Given the description of an element on the screen output the (x, y) to click on. 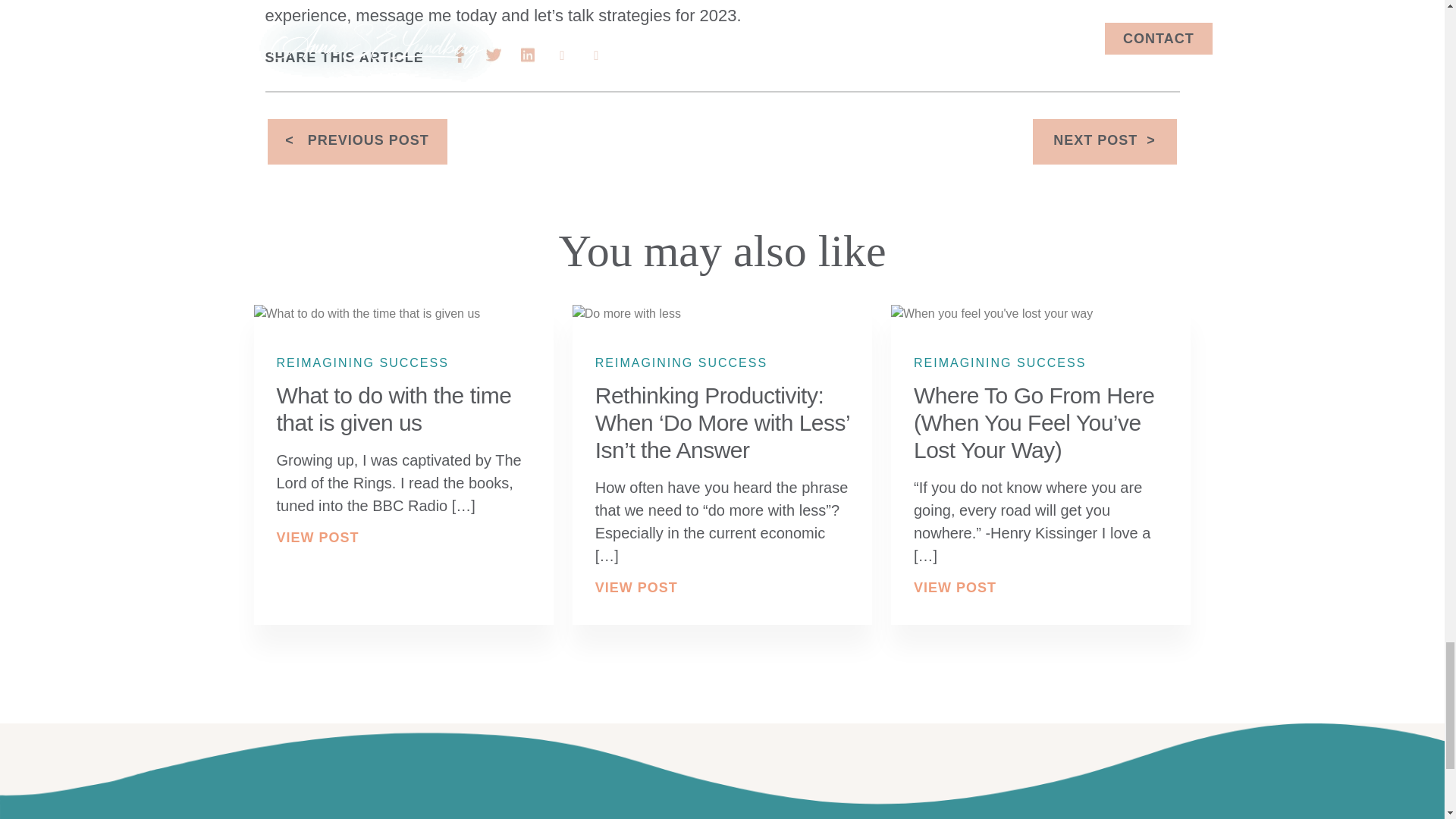
Read (393, 408)
Read (1034, 422)
What to do with the time that is given us (393, 408)
VIEW POST (636, 587)
Read (721, 422)
VIEW POST (317, 537)
VIEW POST (954, 587)
